Given the description of an element on the screen output the (x, y) to click on. 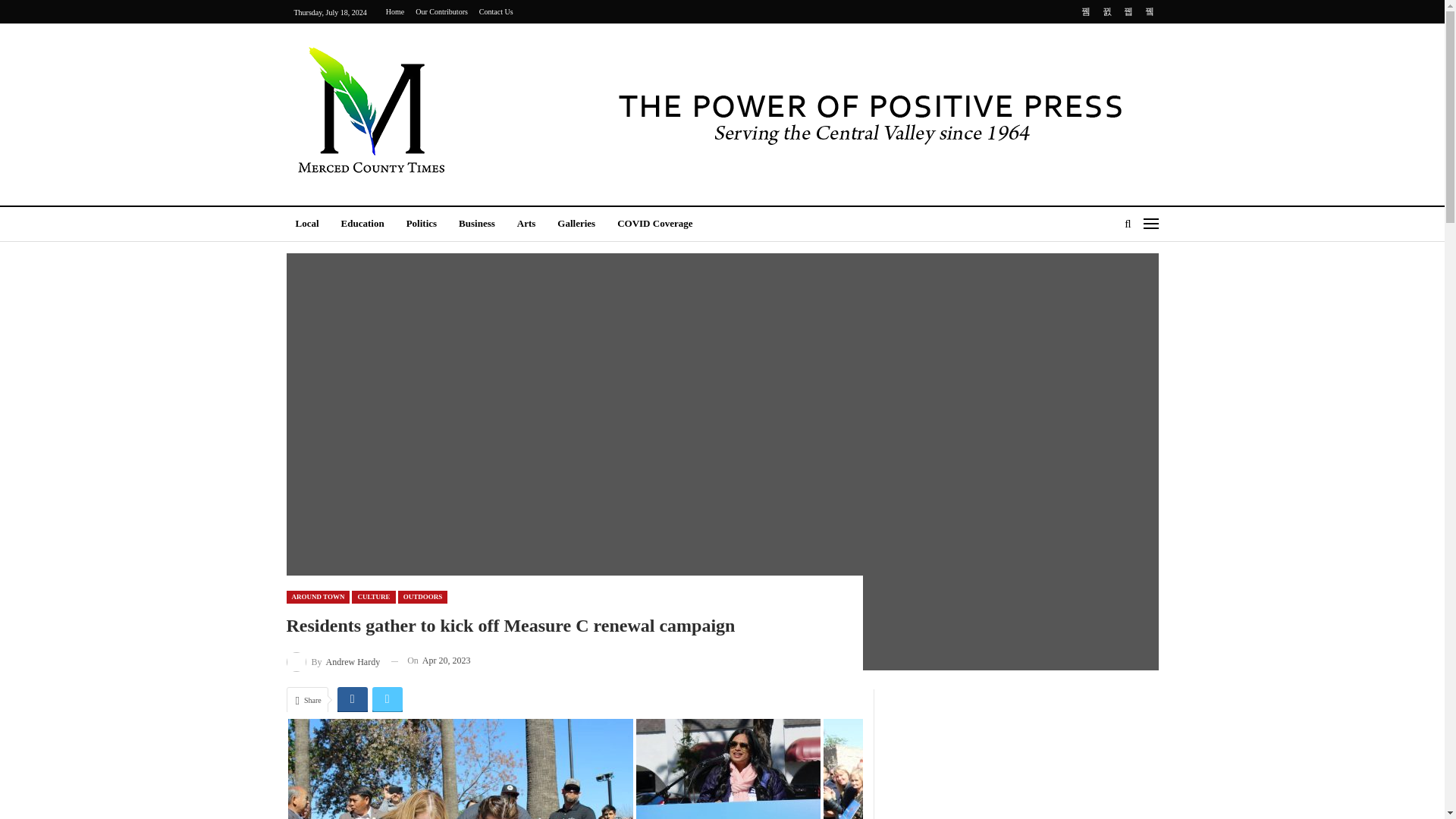
By Andrew Hardy (333, 660)
Our Contributors (440, 11)
Contact Us (496, 11)
Business (476, 224)
JUMP PHOTO (996, 769)
Home (394, 11)
MAIN PHOTO (460, 769)
Local (307, 224)
OUTDOORS (422, 596)
COVID Coverage (654, 224)
CULTURE (373, 596)
Browse Author Articles (333, 660)
Galleries (576, 224)
Education (362, 224)
